Given the description of an element on the screen output the (x, y) to click on. 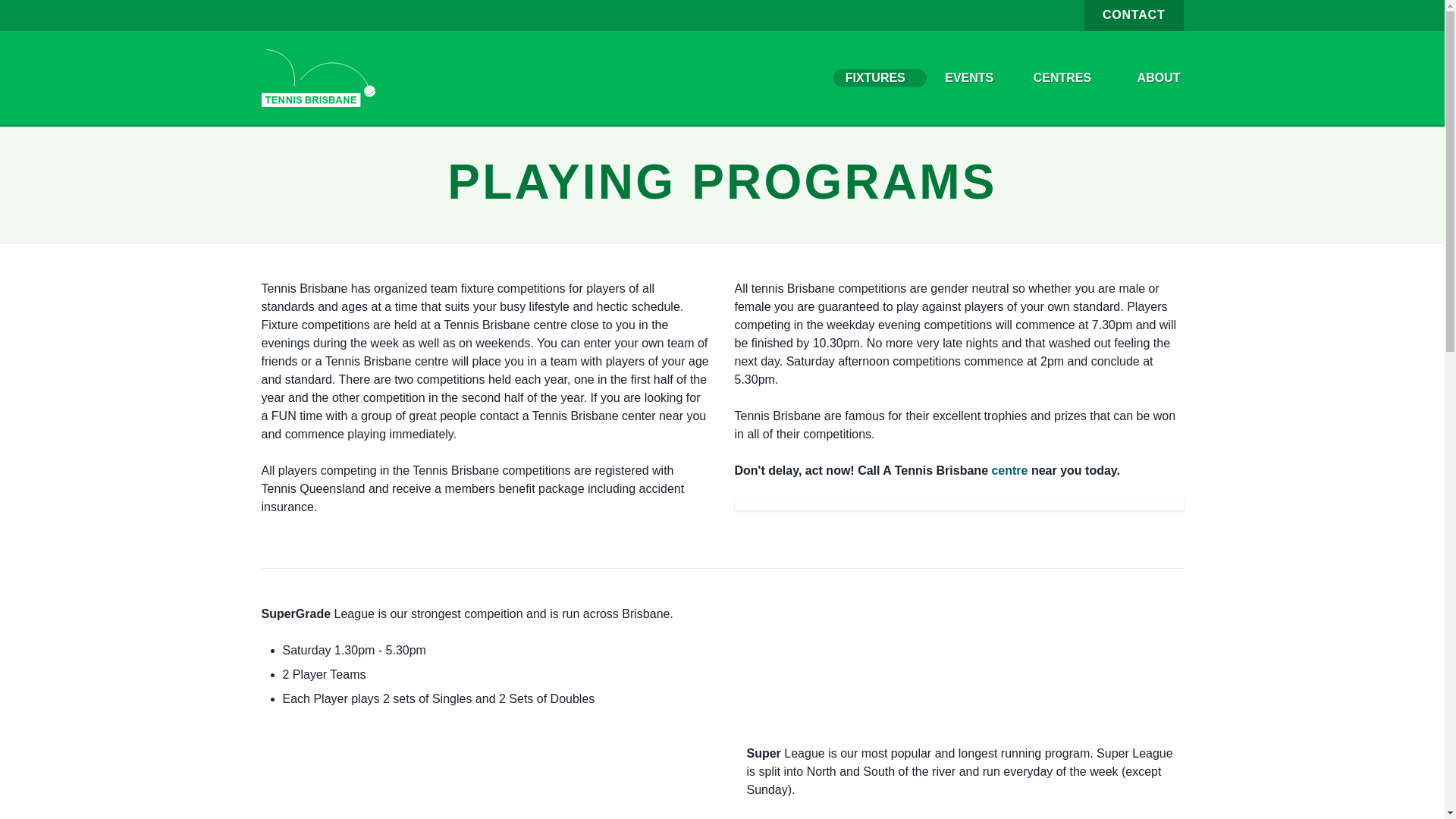
CENTRES (1070, 77)
centre (1009, 470)
ABOUT (1158, 77)
EVENTS (973, 77)
FIXTURES (879, 77)
CONTACT (1133, 15)
